Given the description of an element on the screen output the (x, y) to click on. 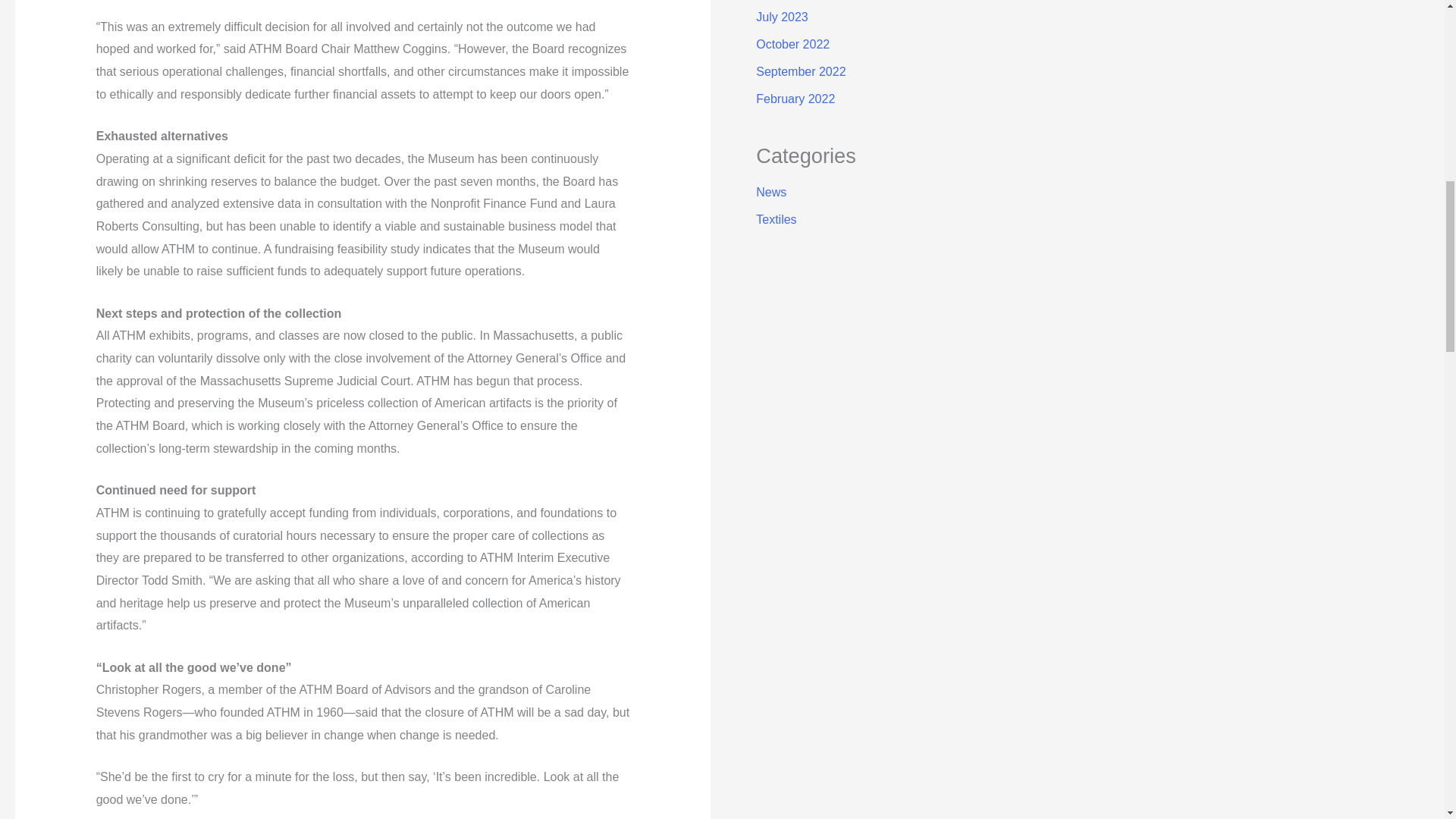
September 2022 (800, 71)
October 2022 (792, 43)
News (770, 192)
July 2023 (781, 16)
Textiles (775, 219)
February 2022 (794, 98)
